Given the description of an element on the screen output the (x, y) to click on. 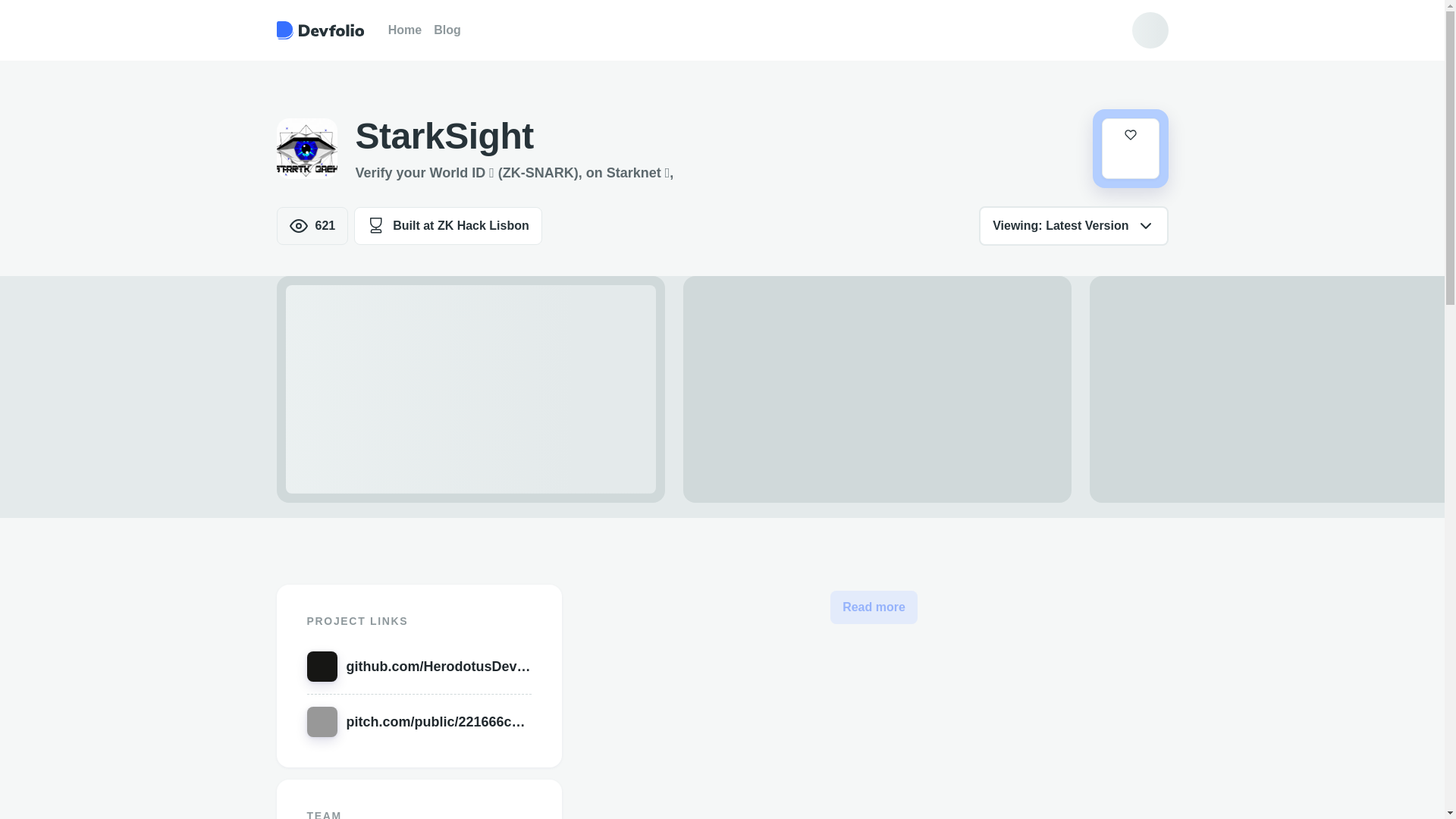
7 (1129, 148)
Built at ZK Hack Lisbon (447, 225)
Blog (447, 29)
Read more (873, 607)
Viewing: Latest Version (1072, 225)
Home (405, 29)
